Given the description of an element on the screen output the (x, y) to click on. 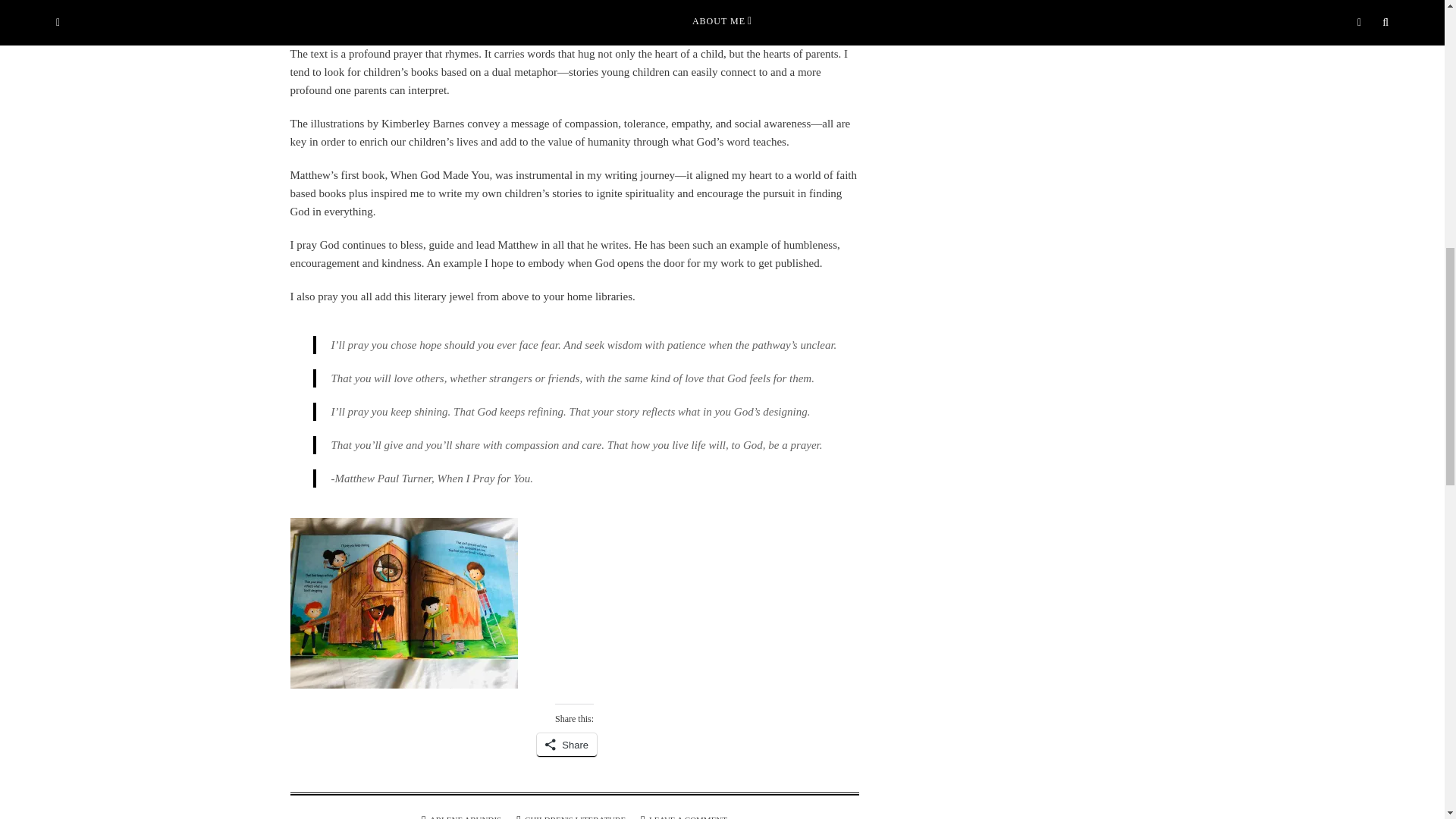
View all posts by Arlene Abundis (464, 816)
LEAVE A COMMENT (687, 816)
CHILDREN'S LITERATURE (575, 816)
Share (566, 744)
ARLENE ABUNDIS (464, 816)
